Given the description of an element on the screen output the (x, y) to click on. 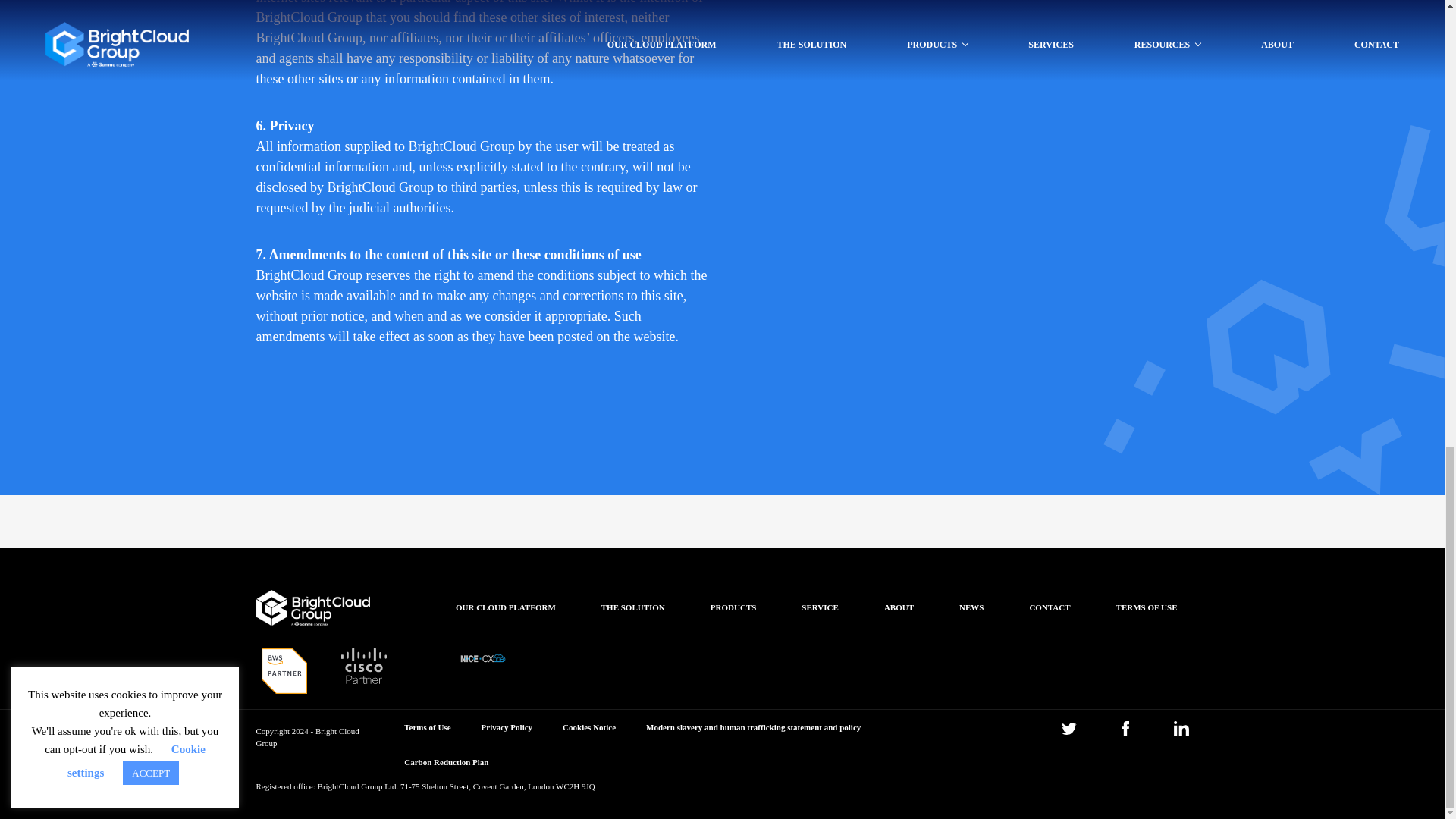
Carbon Reduction Plan (445, 762)
Privacy Policy (506, 727)
Cookies Notice (588, 727)
Modern slavery and human trafficking statement and policy (753, 727)
OUR CLOUD PLATFORM (505, 598)
Our Cloud Platform (505, 598)
Terms of Use (426, 727)
